Given the description of an element on the screen output the (x, y) to click on. 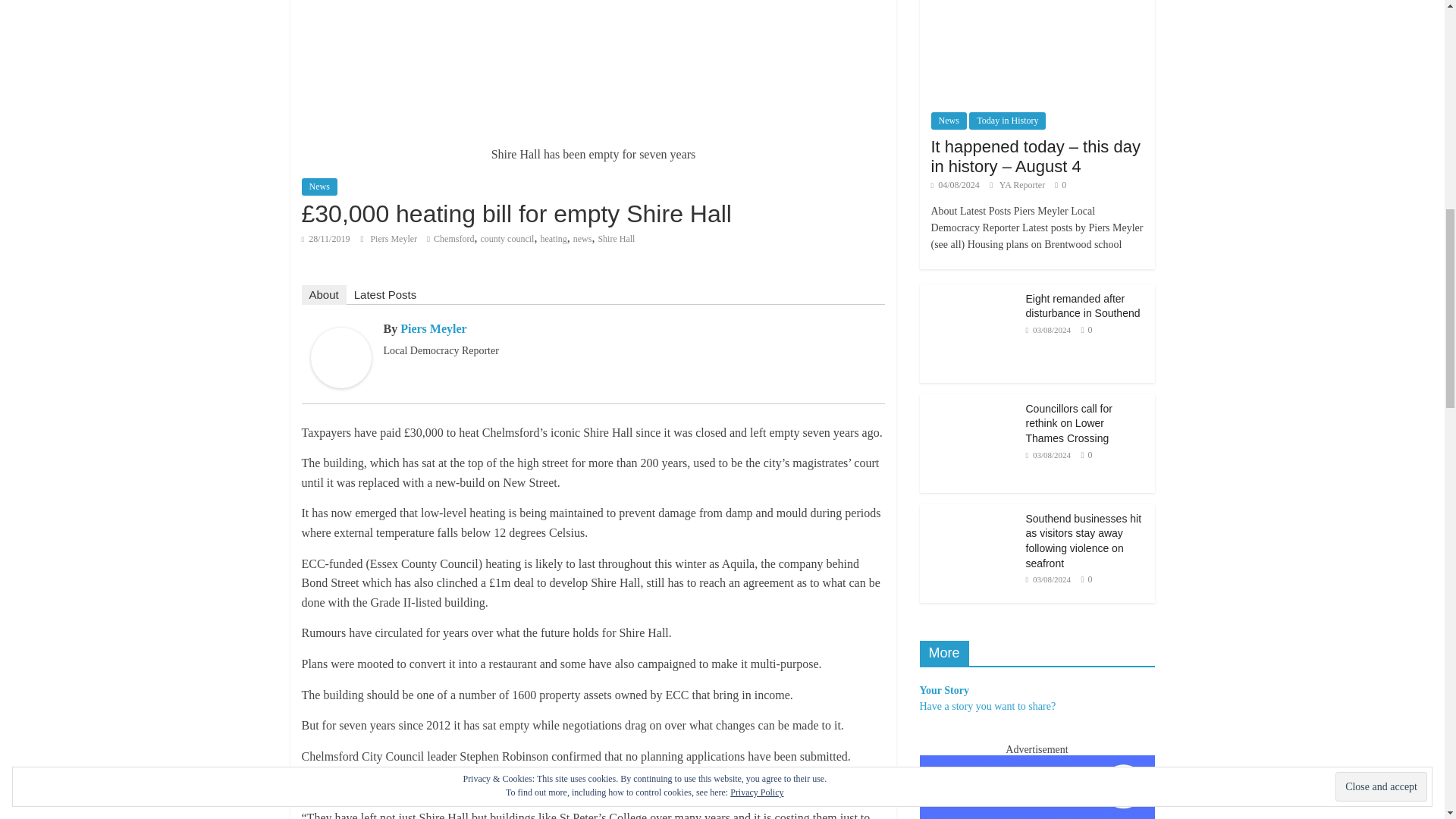
5:56 pm (325, 238)
Piers Meyler (394, 238)
